Given the description of an element on the screen output the (x, y) to click on. 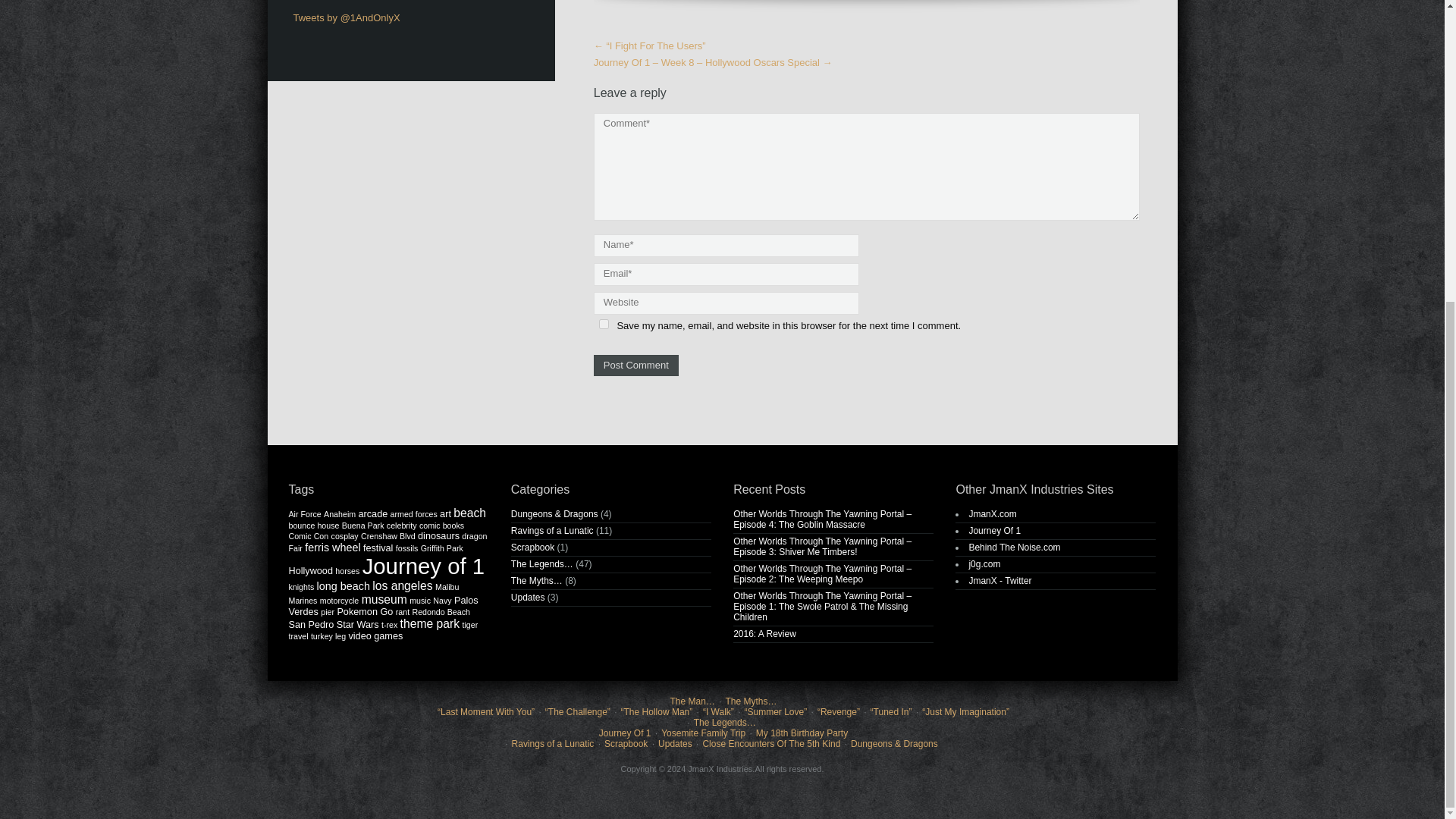
Post Comment (636, 364)
JmanX.com (992, 513)
Flash Loops (984, 563)
JmanX on Twitter (999, 580)
yes (603, 323)
YouTube Travel Show (994, 530)
Post Comment (636, 364)
